Given the description of an element on the screen output the (x, y) to click on. 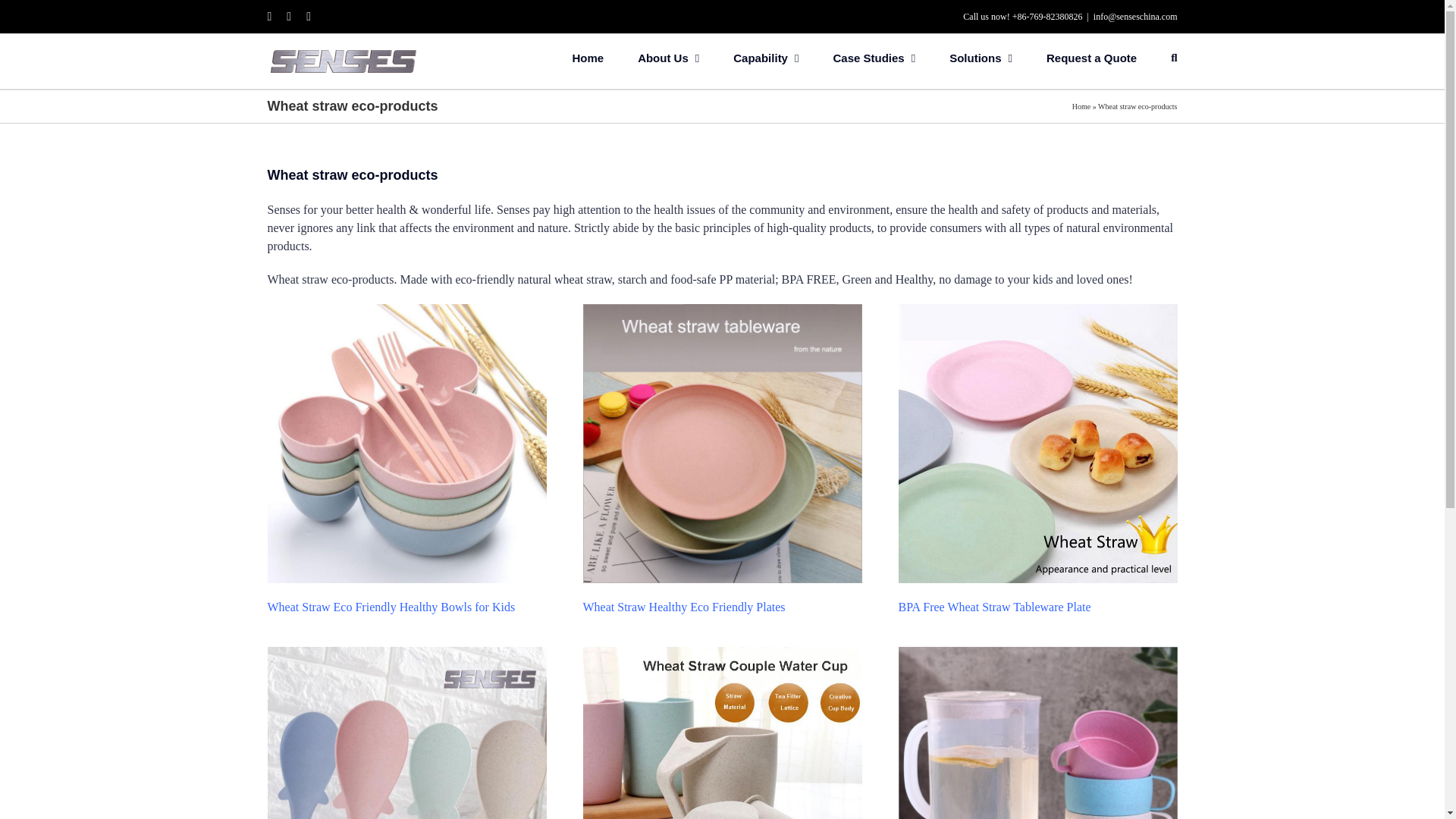
Capability (765, 56)
Request a Quote (1091, 56)
About Us (667, 56)
Case Studies (873, 56)
Solutions (980, 56)
